Given the description of an element on the screen output the (x, y) to click on. 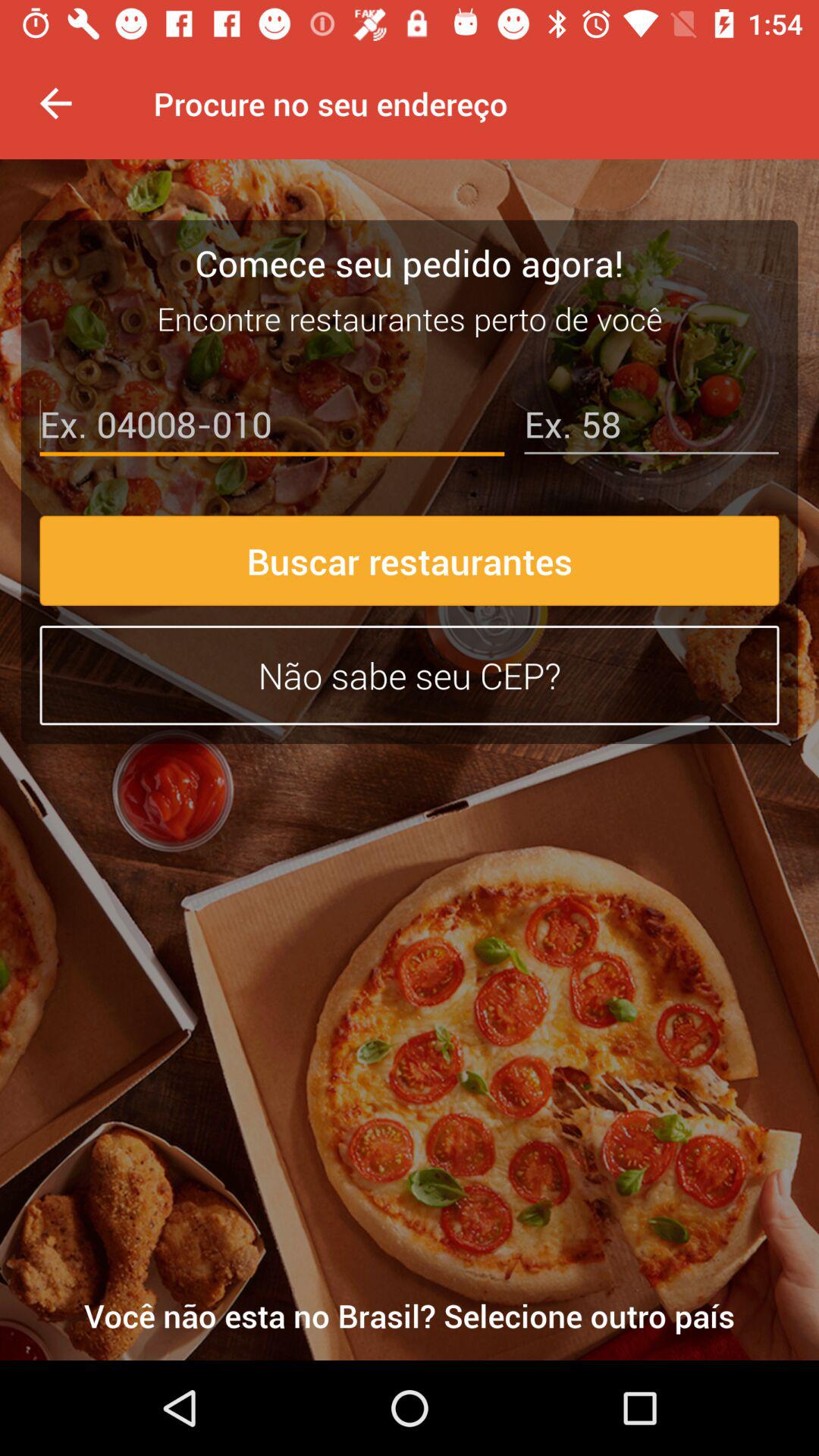
enter (271, 427)
